Given the description of an element on the screen output the (x, y) to click on. 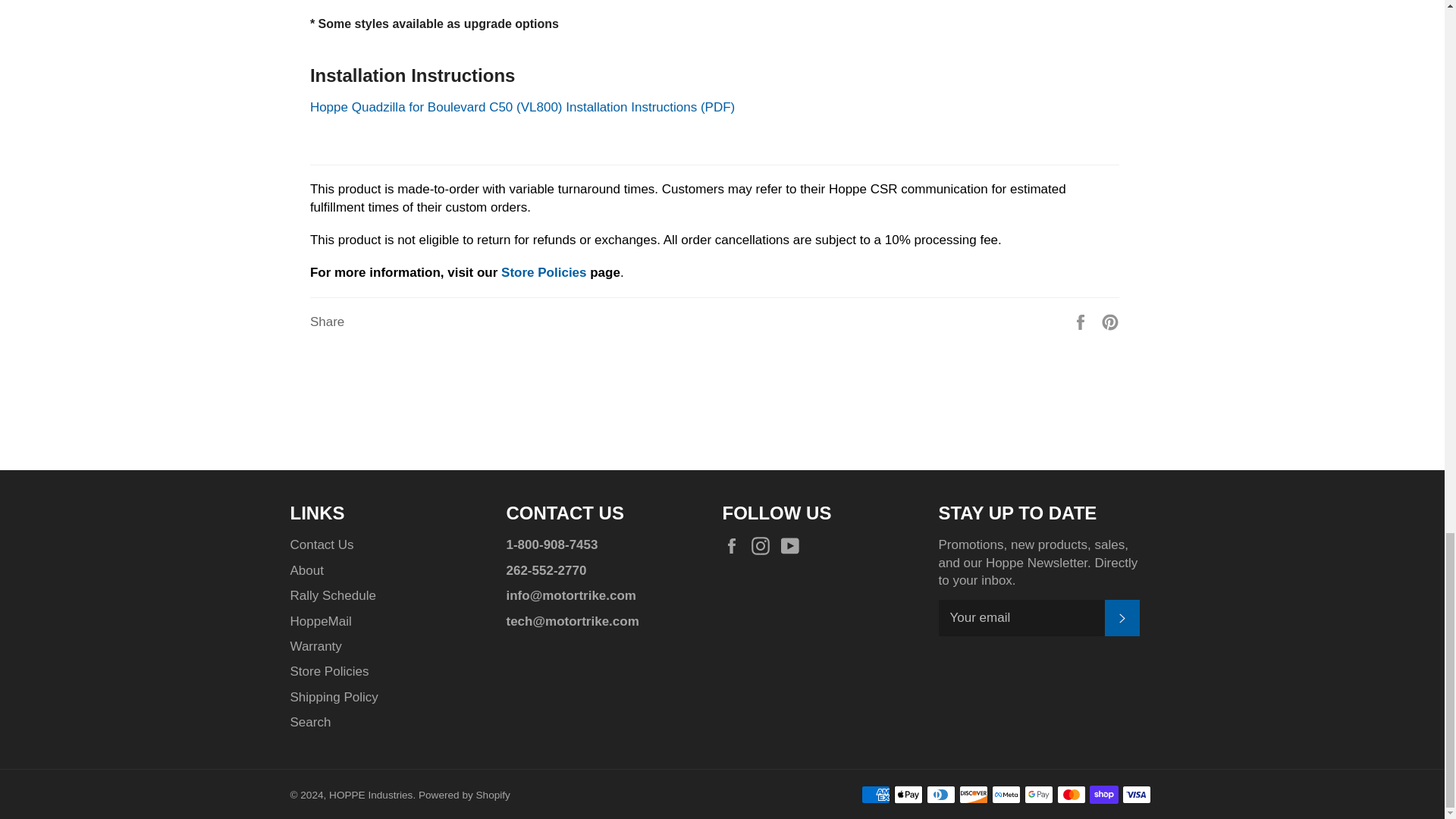
Share on Facebook (1082, 321)
Pin on Pinterest (1109, 321)
Hoppe Store Policies (543, 272)
HOPPE Industries on Instagram (764, 545)
HOPPE Industries on YouTube (793, 545)
HOPPE Industries on Facebook (735, 545)
